Given the description of an element on the screen output the (x, y) to click on. 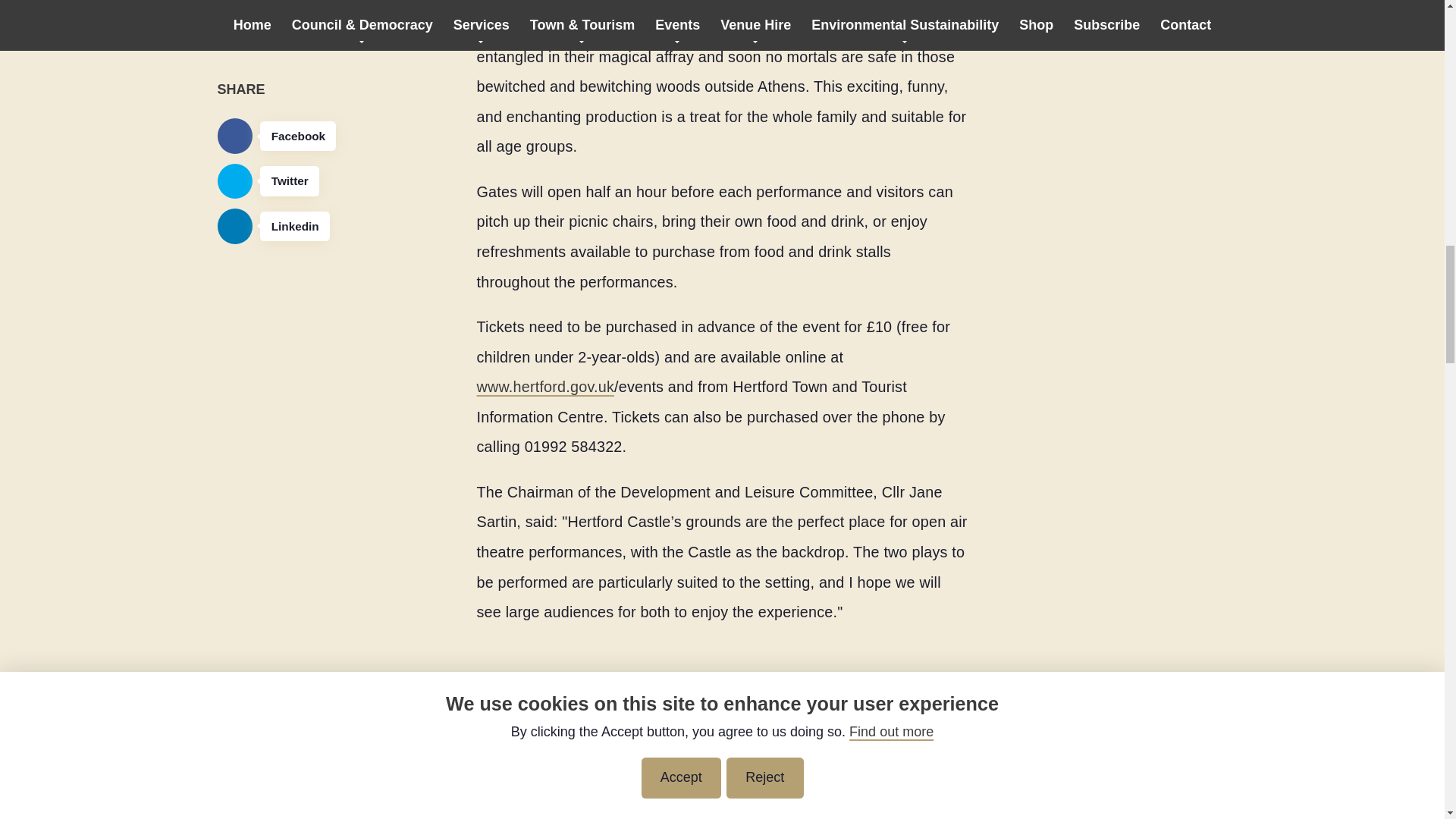
www.hertford.gov.uk (545, 386)
